Given the description of an element on the screen output the (x, y) to click on. 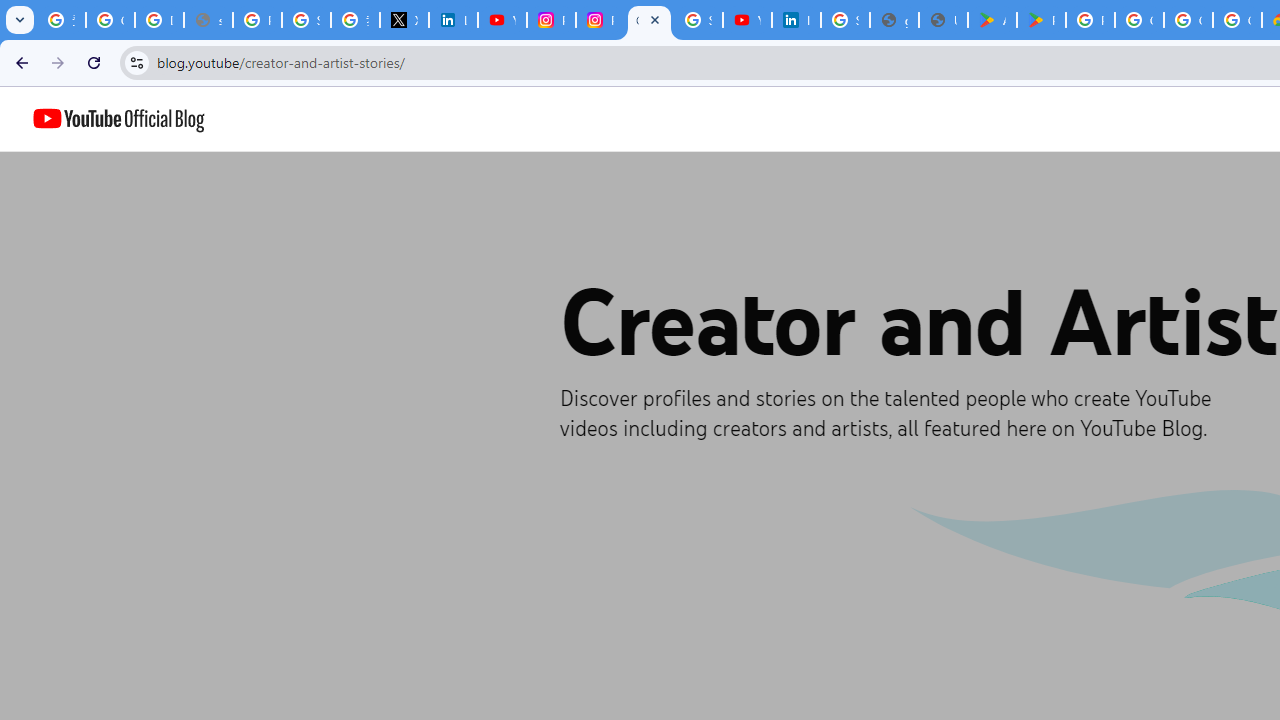
YouTube Content Monetization Policies - How YouTube Works (502, 20)
Android Apps on Google Play (992, 20)
LinkedIn Privacy Policy (452, 20)
YouTube Official Blog logo (118, 119)
PAW Patrol Rescue World - Apps on Google Play (1041, 20)
User Details (943, 20)
Sign in - Google Accounts (698, 20)
